Given the description of an element on the screen output the (x, y) to click on. 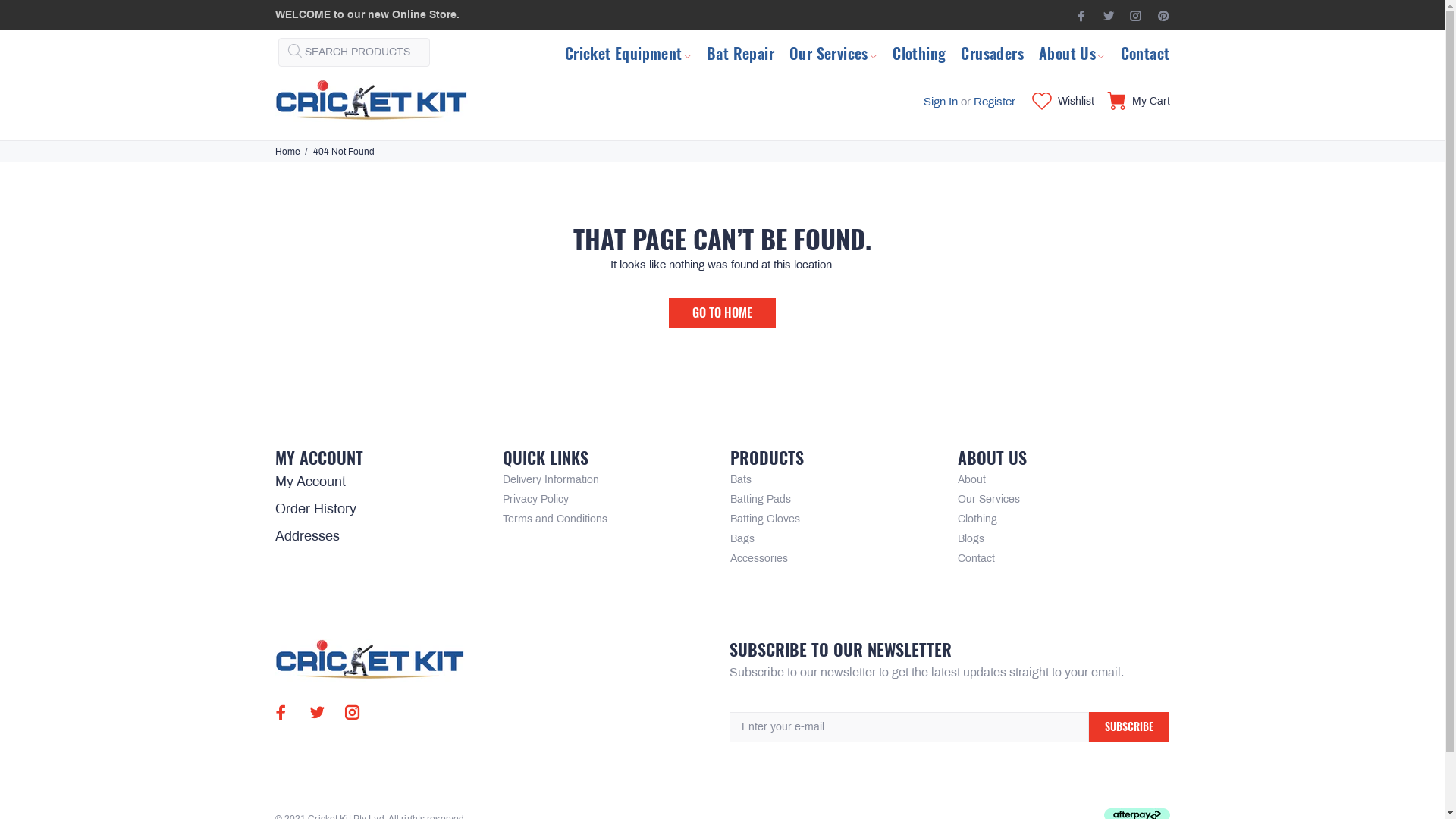
Blogs Element type: text (970, 539)
Batting Pads Element type: text (759, 499)
Order History Element type: text (314, 508)
Bats Element type: text (739, 479)
Clothing Element type: text (918, 51)
Contact Element type: text (1141, 51)
Our Services Element type: text (832, 51)
About Us Element type: text (1072, 51)
Bat Repair Element type: text (740, 51)
Addresses Element type: text (306, 535)
Sign In Element type: text (940, 101)
Delivery Information Element type: text (550, 479)
Crusaders Element type: text (992, 51)
Bags Element type: text (741, 539)
Accessories Element type: text (758, 558)
Register Element type: text (994, 101)
Contact Element type: text (975, 558)
Terms and Conditions Element type: text (554, 519)
About Element type: text (971, 479)
Clothing Element type: text (976, 519)
Our Services Element type: text (988, 499)
Wishlist Element type: text (1061, 101)
Cricket Equipment Element type: text (631, 51)
Home Element type: text (286, 151)
Privacy Policy Element type: text (534, 499)
My Cart Element type: text (1134, 101)
GO TO HOME Element type: text (721, 313)
My Account Element type: text (309, 481)
SUBSCRIBE Element type: text (1128, 727)
Batting Gloves Element type: text (764, 519)
